Given the description of an element on the screen output the (x, y) to click on. 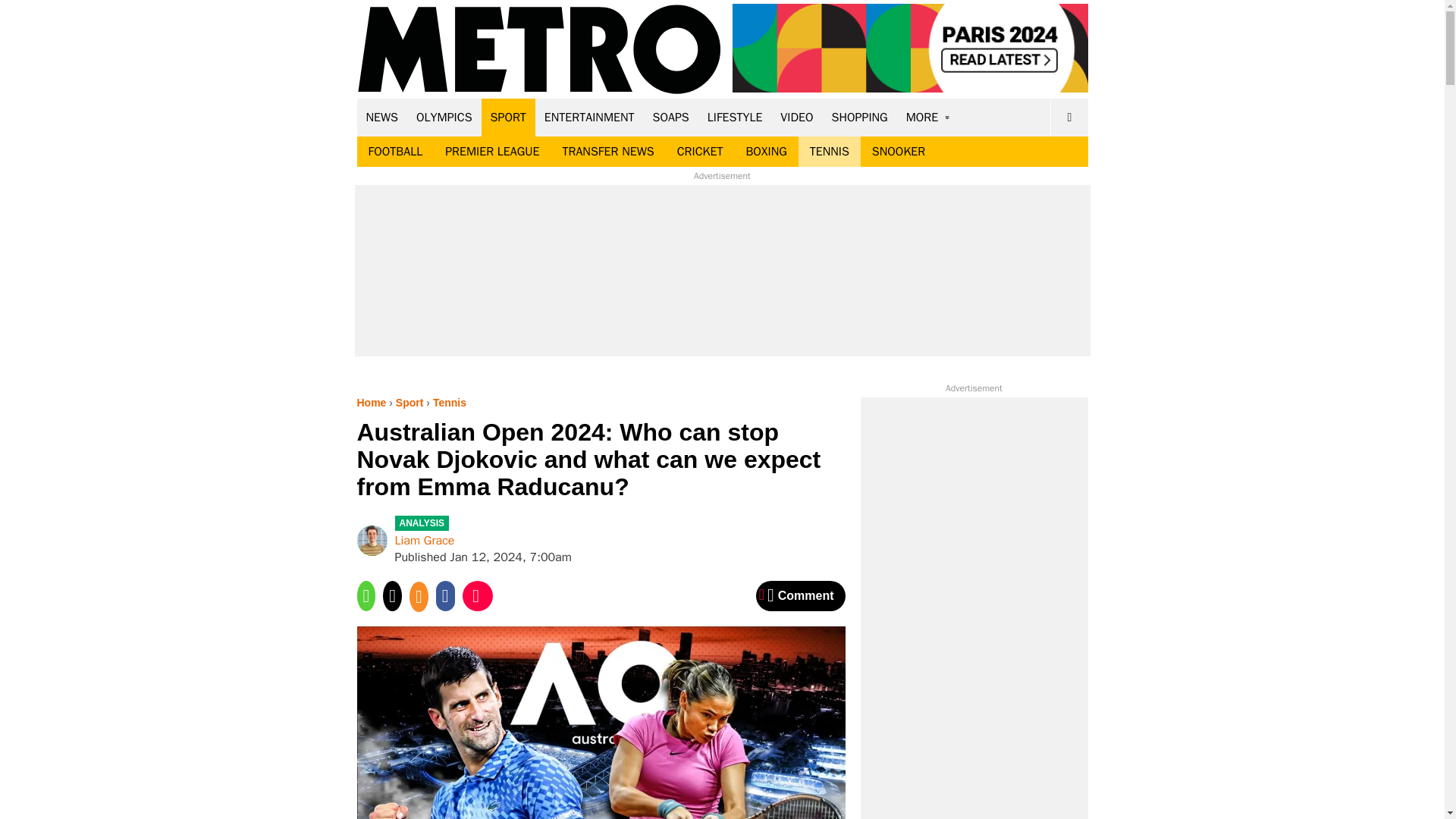
LIFESTYLE (734, 117)
CRICKET (700, 151)
Metro (539, 50)
ENTERTAINMENT (589, 117)
NEWS (381, 117)
SOAPS (670, 117)
OLYMPICS (444, 117)
BOXING (765, 151)
SPORT (508, 117)
SNOOKER (898, 151)
